Given the description of an element on the screen output the (x, y) to click on. 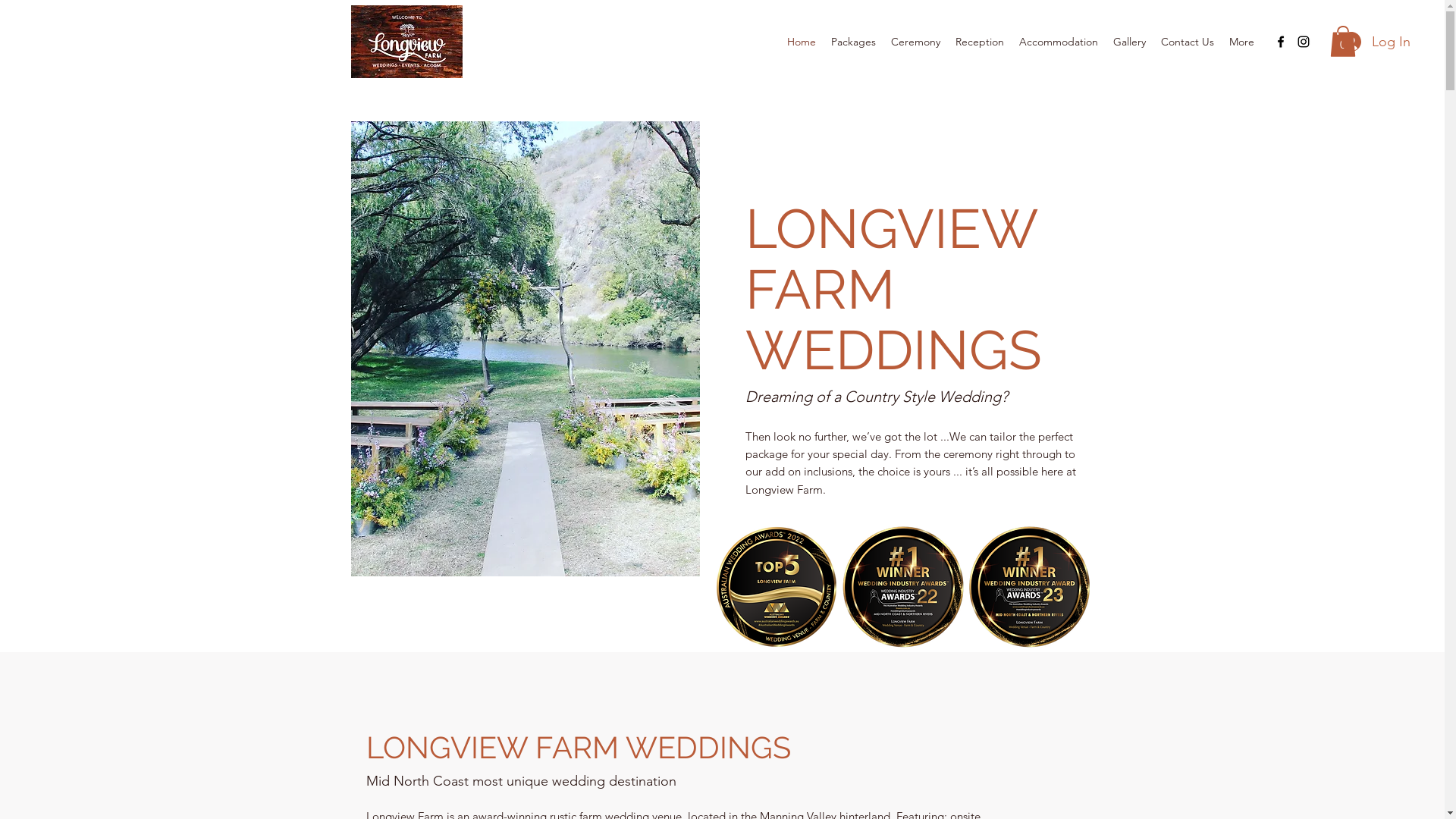
Reception Element type: text (979, 41)
Packages Element type: text (853, 41)
Home Element type: text (801, 41)
0 Element type: text (1342, 40)
Contact Us Element type: text (1187, 41)
Log In Element type: text (1375, 41)
Ceremony Element type: text (915, 41)
